Given the description of an element on the screen output the (x, y) to click on. 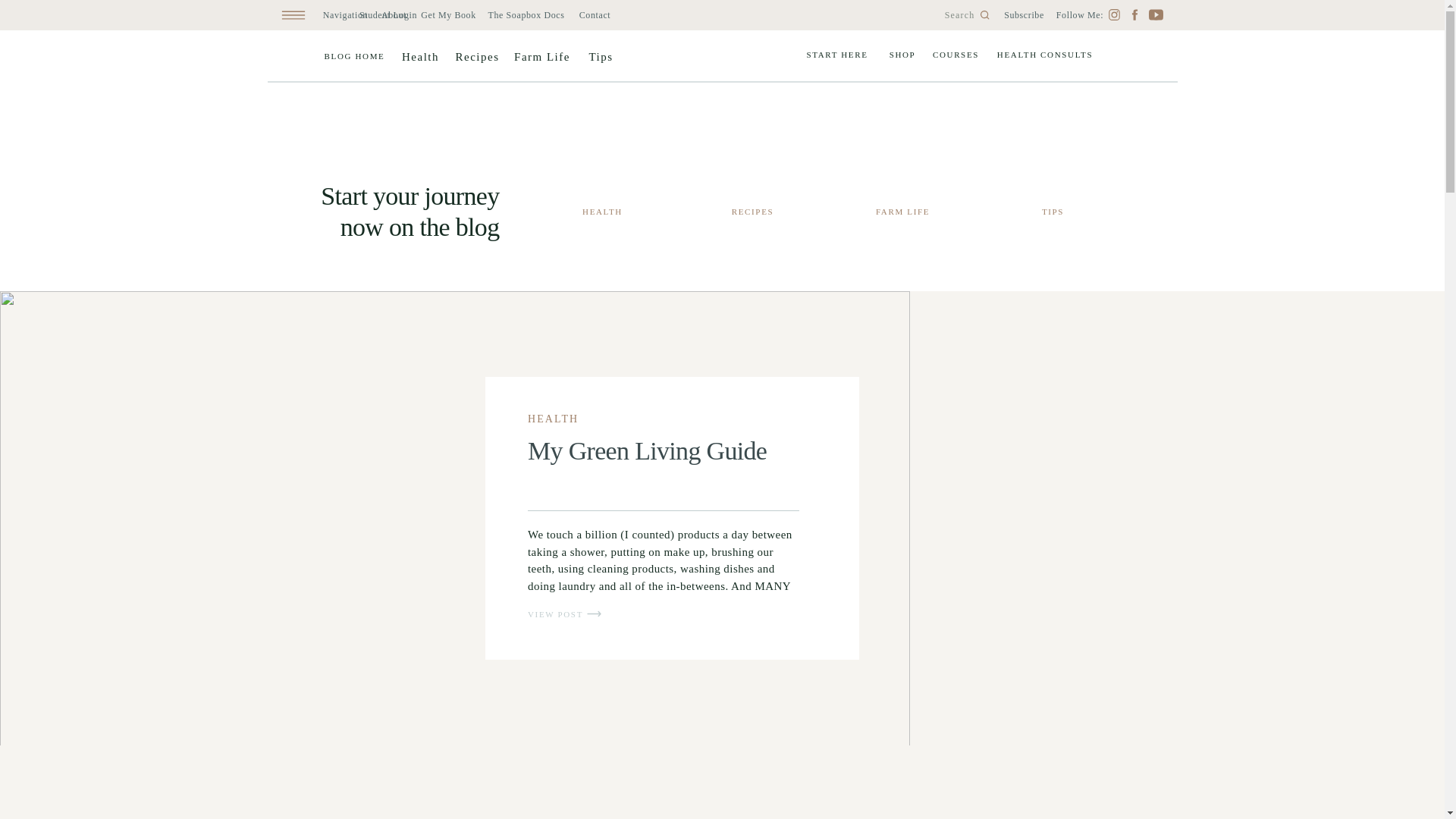
BLOG HOME (354, 55)
My Green Living Guide (593, 613)
Farm Life (541, 57)
START HERE (836, 54)
My Green Living Guide (647, 450)
Subscribe (1023, 15)
Contact (594, 24)
About (393, 24)
FARM LIFE (902, 211)
VIEW POST (561, 613)
Get My Book (448, 24)
RECIPES (752, 211)
Health (420, 57)
My Green Living Guide (561, 613)
Recipes (475, 57)
